Given the description of an element on the screen output the (x, y) to click on. 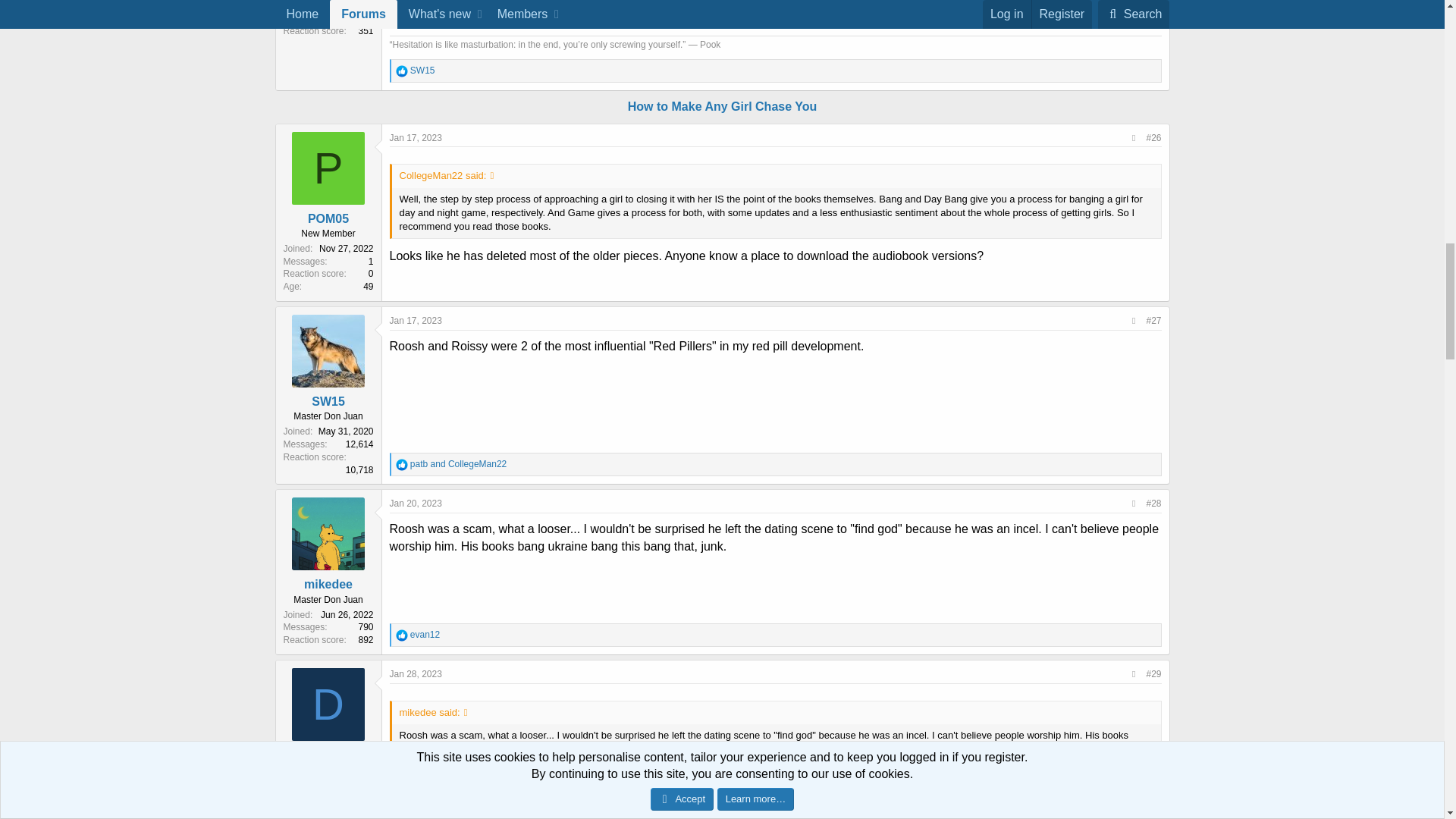
Jan 17, 2023 at 7:09 PM (416, 320)
Like (401, 635)
Jan 20, 2023 at 11:50 PM (416, 502)
Like (401, 464)
Jan 28, 2023 at 2:41 PM (416, 674)
Like (401, 70)
Jan 17, 2023 at 5:40 PM (416, 137)
